Given the description of an element on the screen output the (x, y) to click on. 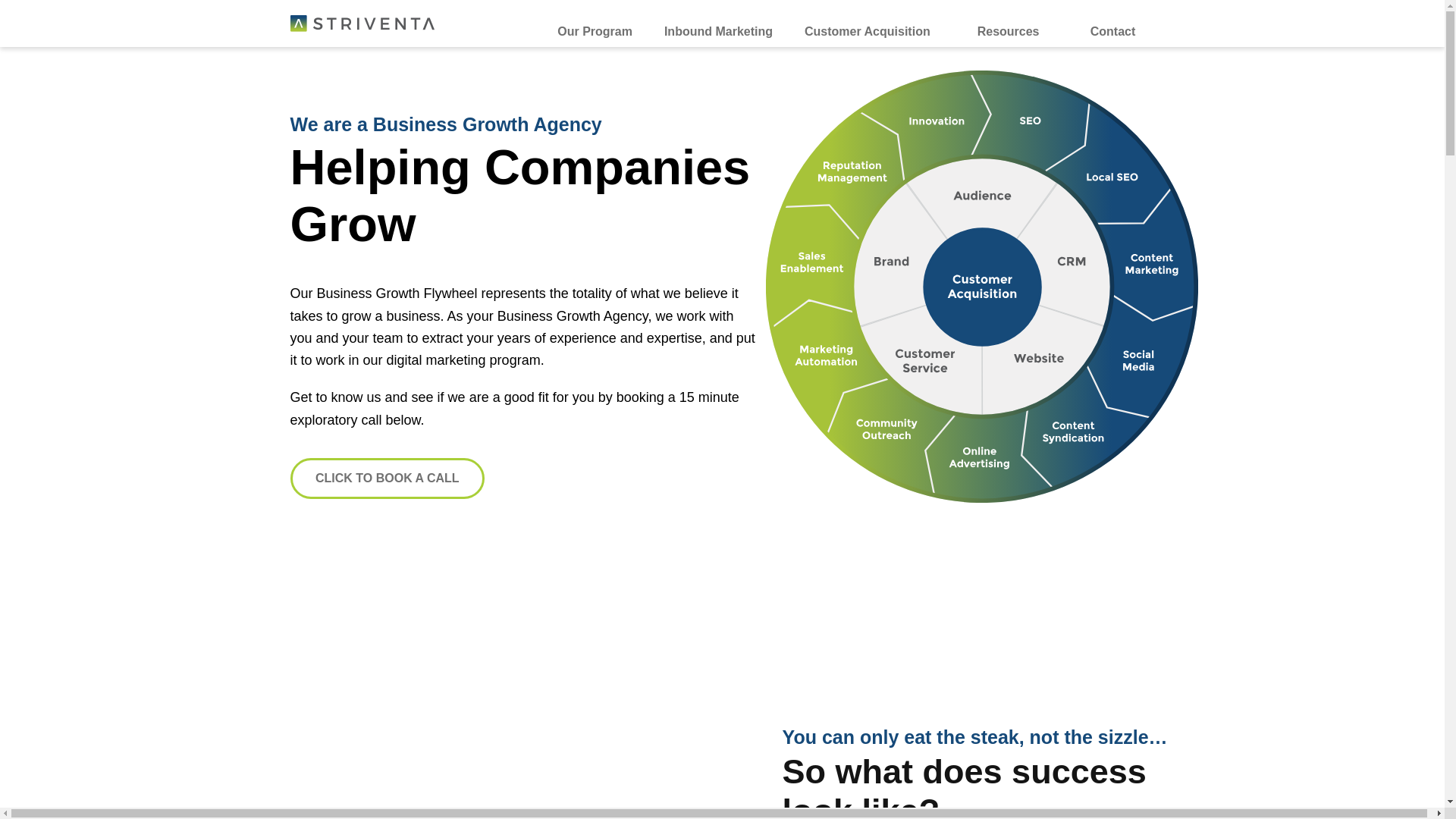
Our Program (594, 23)
Contact (1112, 23)
CLICK TO BOOK A CALL (386, 477)
Customer Acquisition (866, 23)
Resources (1008, 23)
Inbound Marketing (718, 23)
